Given the description of an element on the screen output the (x, y) to click on. 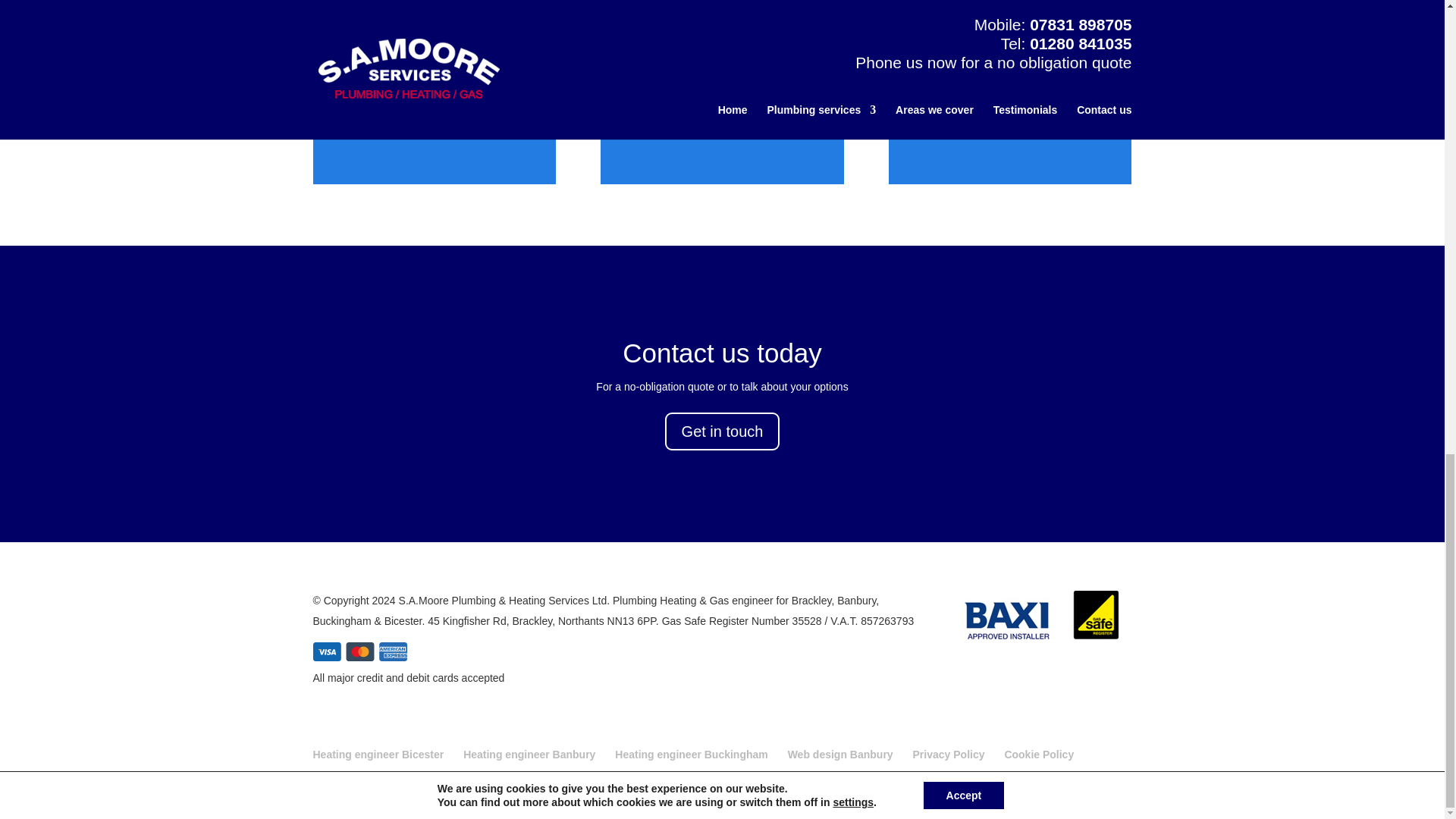
Heating engineer Bicester (378, 754)
Privacy Policy (948, 754)
Cookie Policy (1039, 754)
Heating engineer Banbury (529, 754)
Get in touch (722, 431)
Heating engineer Buckingham (690, 754)
Web designers in Brackley (721, 805)
Web design Banbury (840, 754)
